Given the description of an element on the screen output the (x, y) to click on. 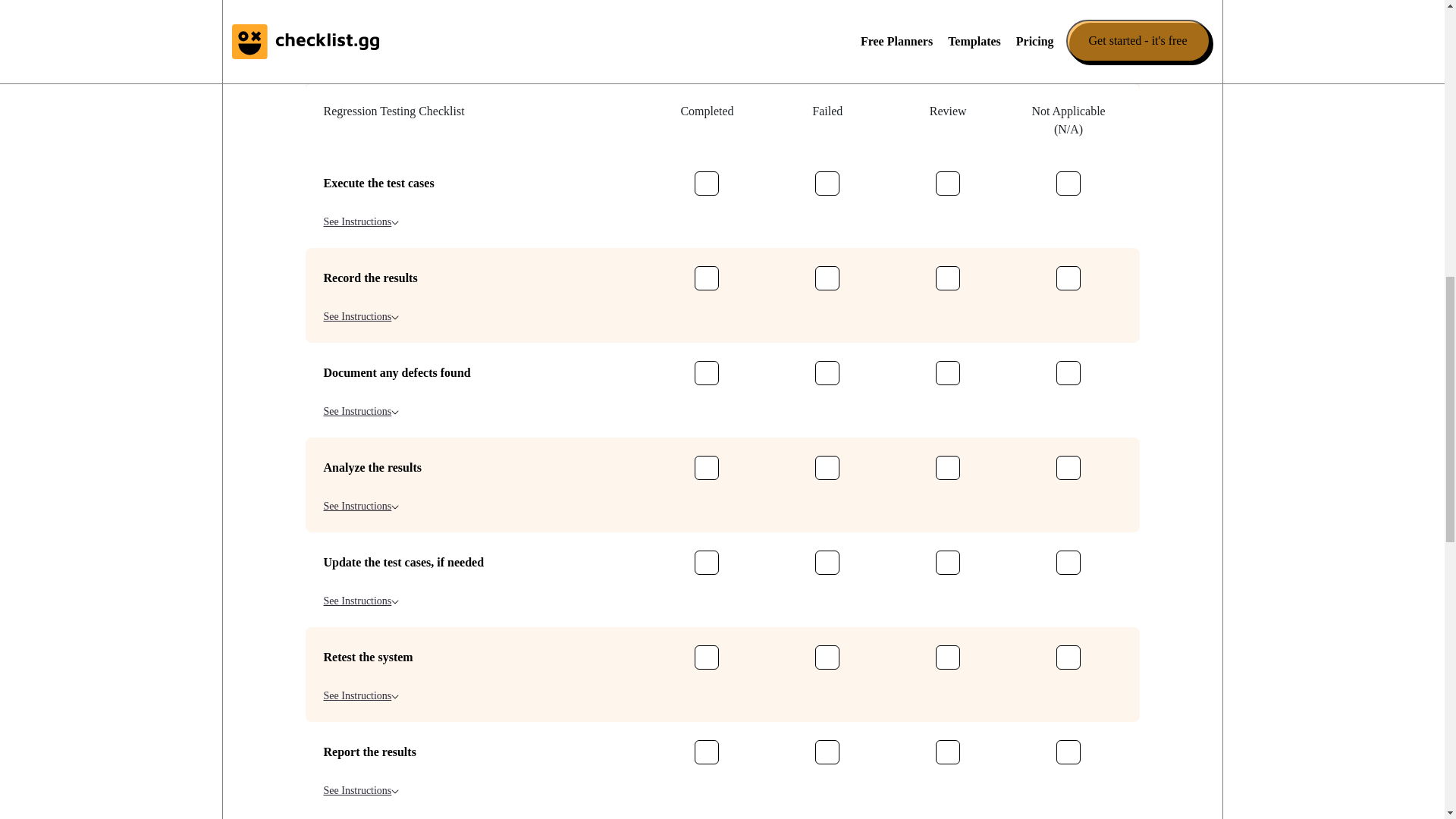
See Instructions (360, 600)
See Instructions (360, 32)
See Instructions (360, 695)
See Instructions (360, 316)
See Instructions (360, 411)
See Instructions (360, 221)
See Instructions (360, 505)
See Instructions (360, 126)
See Instructions (360, 790)
